Given the description of an element on the screen output the (x, y) to click on. 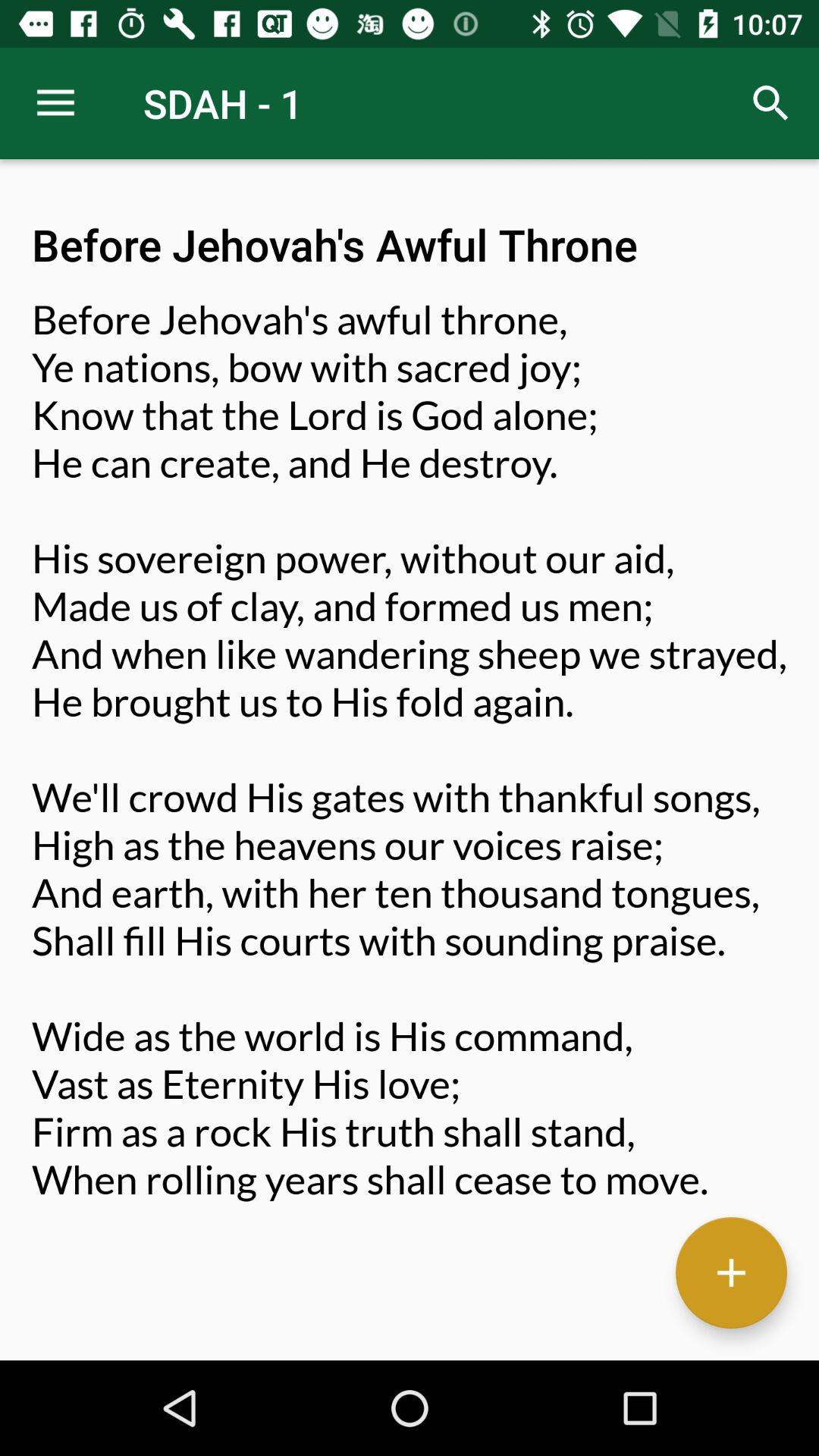
tap the icon above before jehovah s item (55, 103)
